Given the description of an element on the screen output the (x, y) to click on. 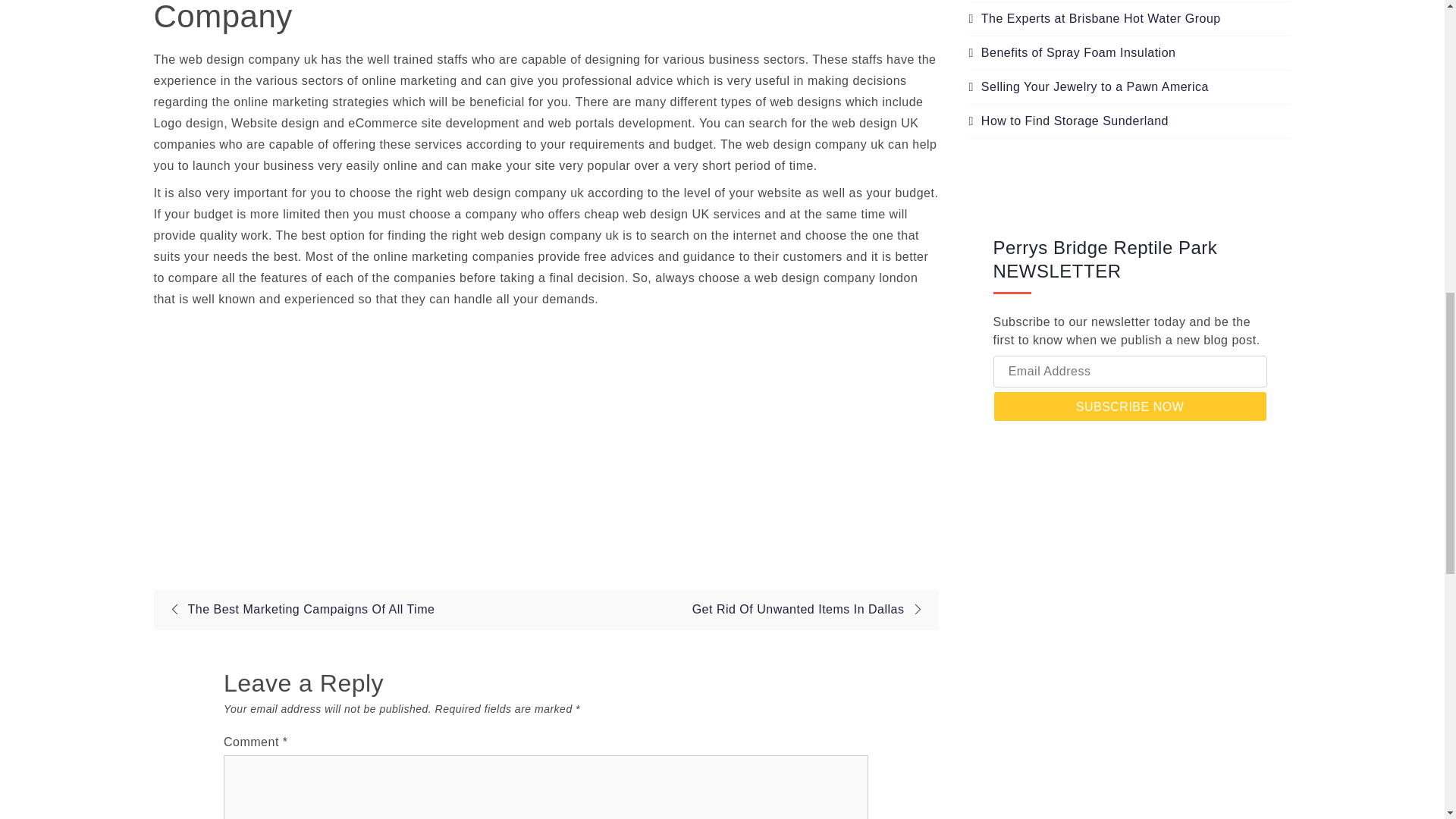
The Best Marketing Campaigns Of All Time (296, 608)
SUBSCRIBE NOW (1129, 406)
Get Rid Of Unwanted Items In Dallas (812, 608)
Benefits of Spray Foam Insulation (1072, 51)
How to Find Storage Sunderland (1069, 120)
The Experts at Brisbane Hot Water Group (1095, 18)
SUBSCRIBE NOW (1129, 406)
Selling Your Jewelry to a Pawn America (1088, 86)
